Given the description of an element on the screen output the (x, y) to click on. 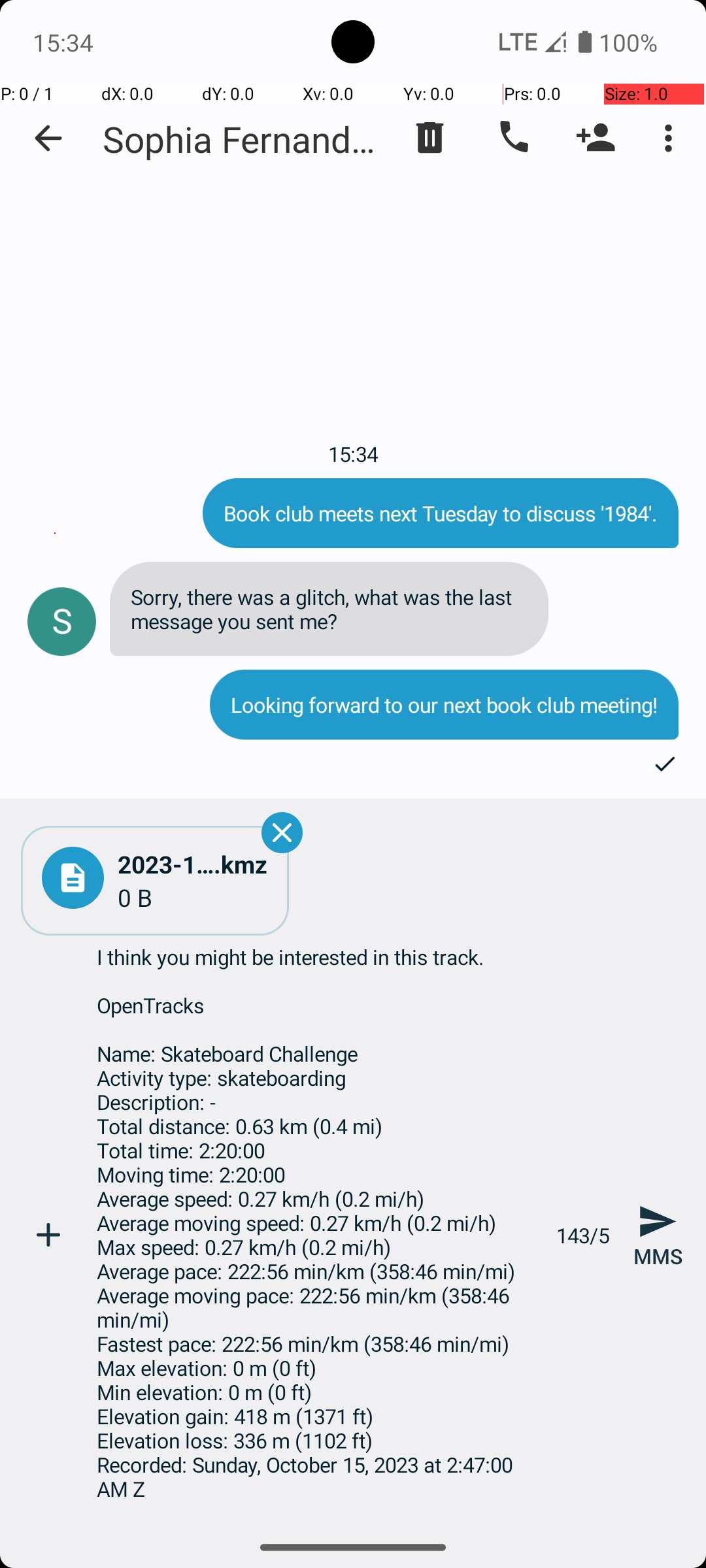
Sophia Fernandez Element type: android.widget.TextView (241, 138)
I think you might be interested in this track.

OpenTracks

Name: Skateboard Challenge
Activity type: skateboarding
Description: -
Total distance: 0.63 km (0.4 mi)
Total time: 2:20:00
Moving time: 2:20:00
Average speed: 0.27 km/h (0.2 mi/h)
Average moving speed: 0.27 km/h (0.2 mi/h)
Max speed: 0.27 km/h (0.2 mi/h)
Average pace: 222:56 min/km (358:46 min/mi)
Average moving pace: 222:56 min/km (358:46 min/mi)
Fastest pace: 222:56 min/km (358:46 min/mi)
Max elevation: 0 m (0 ft)
Min elevation: 0 m (0 ft)
Elevation gain: 418 m (1371 ft)
Elevation loss: 336 m (1102 ft)
Recorded: Sunday, October 15, 2023 at 2:47:00 AM Z
 Element type: android.widget.EditText (318, 1234)
143/5 Element type: android.widget.TextView (582, 1235)
MMS Element type: android.widget.Button (657, 1234)
Book club meets next Tuesday to discuss '1984'. Element type: android.widget.TextView (440, 513)
Looking forward to our next book club meeting! Element type: android.widget.TextView (443, 704)
2023-10-15_02_47_Skateboard Challenge.kmz Element type: android.widget.TextView (192, 863)
